Given the description of an element on the screen output the (x, y) to click on. 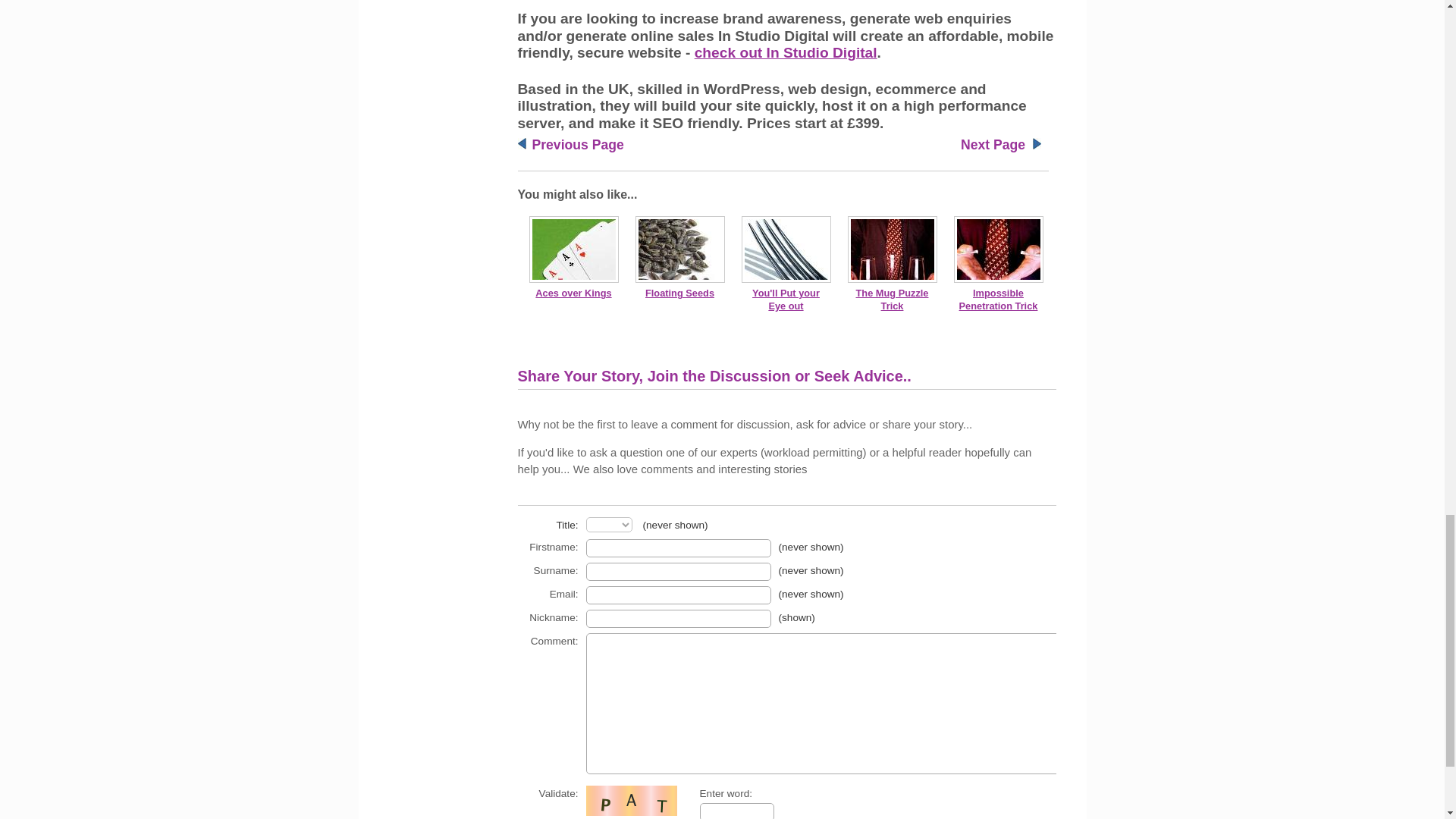
Impossible Penetration Trick (998, 299)
Next Page (992, 144)
Previous Page (578, 144)
You'll Put your Eye out (785, 299)
check out In Studio Digital (785, 52)
Floating Seeds (679, 292)
The Mug Puzzle Trick (892, 299)
Aces over Kings (573, 292)
